Given the description of an element on the screen output the (x, y) to click on. 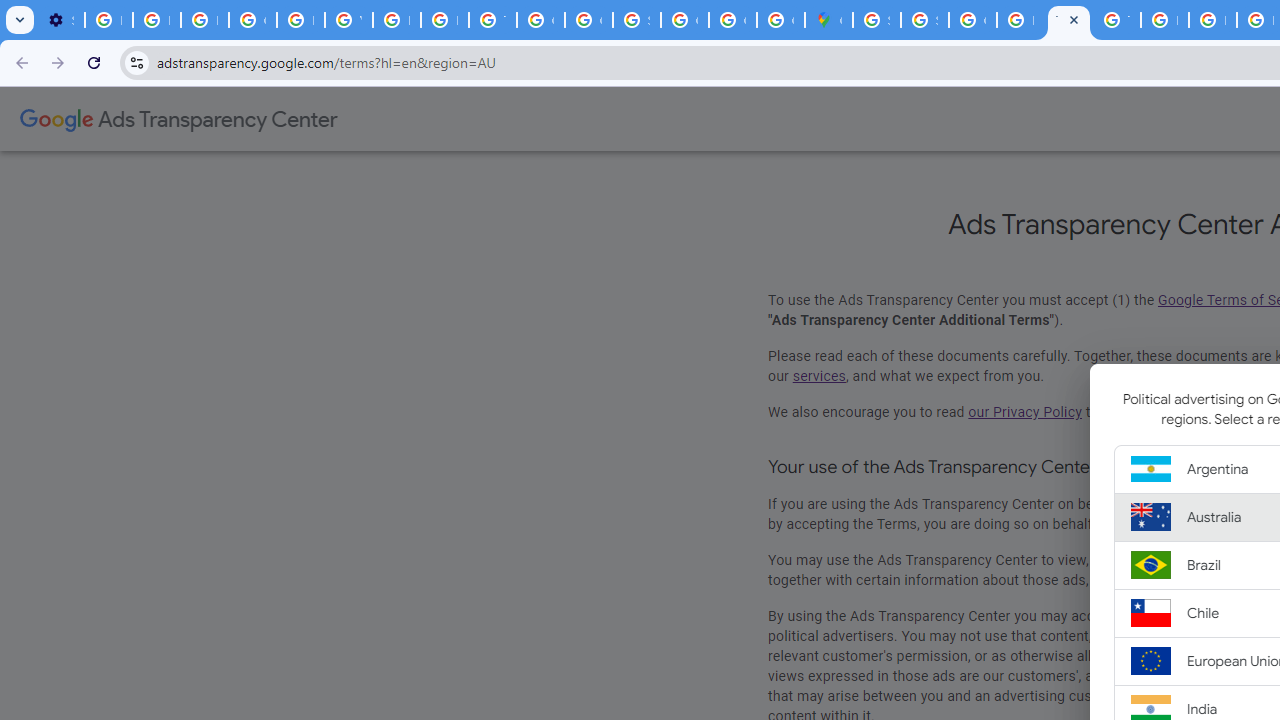
Sign in - Google Accounts (924, 20)
Go to Ads Transparency Center home page. (178, 120)
